Given the description of an element on the screen output the (x, y) to click on. 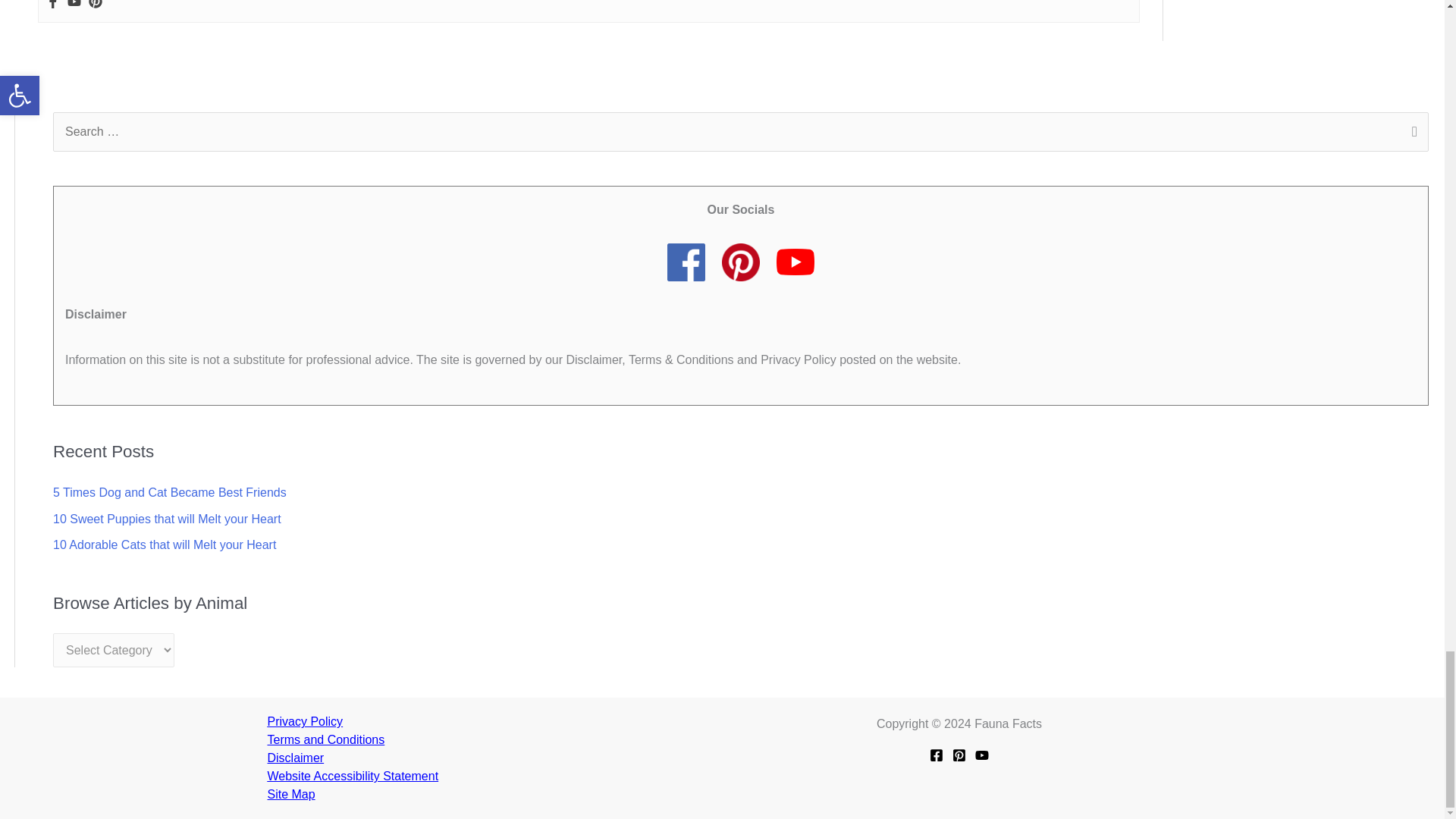
Youtube (73, 5)
Pinterest (94, 5)
Facebook (52, 5)
